Given the description of an element on the screen output the (x, y) to click on. 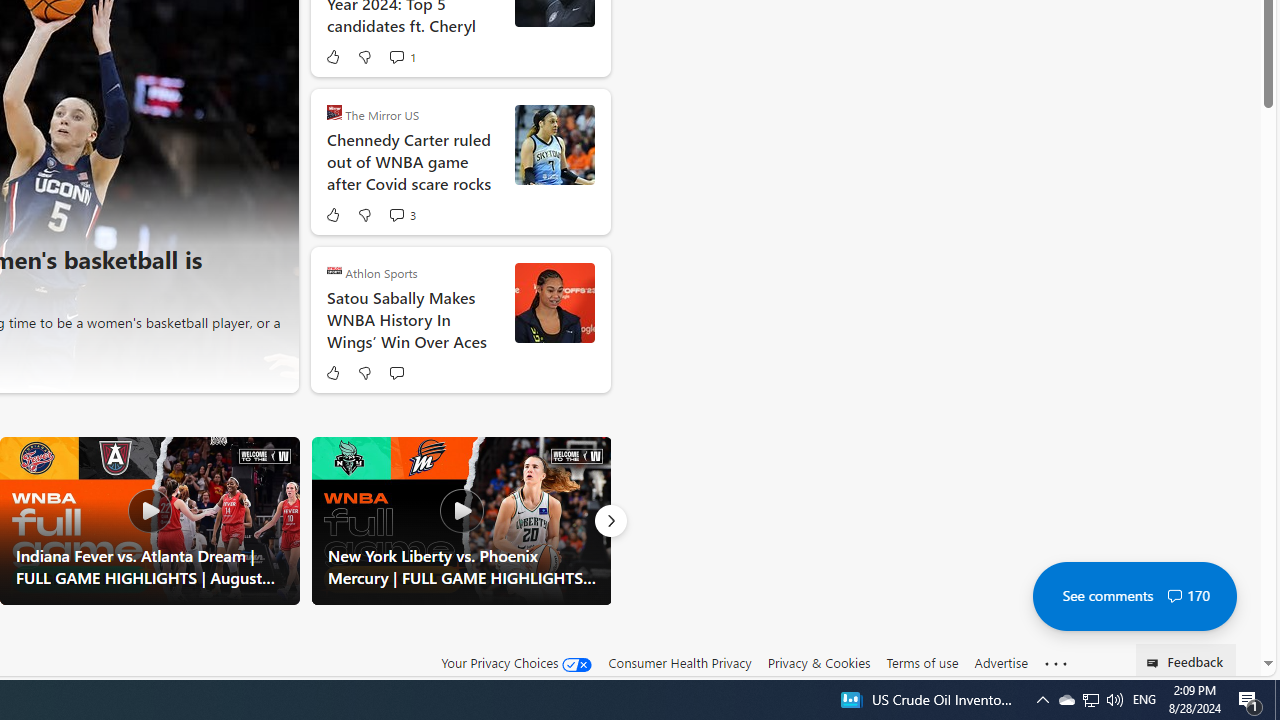
Class: feedback_link_icon-DS-EntryPoint1-1 (1156, 663)
View comments 1 Comment (401, 56)
Your Privacy Choices (516, 663)
Class: oneFooter_seeMore-DS-EntryPoint1-1 (1055, 663)
Like (332, 372)
Advertise (1000, 662)
Your Privacy Choices (516, 662)
Class: cwt-icon-vector (1174, 596)
See comments 170 (1133, 596)
Terms of use (921, 662)
Next (610, 520)
Privacy & Cookies (818, 663)
View comments 3 Comment (395, 215)
